Given the description of an element on the screen output the (x, y) to click on. 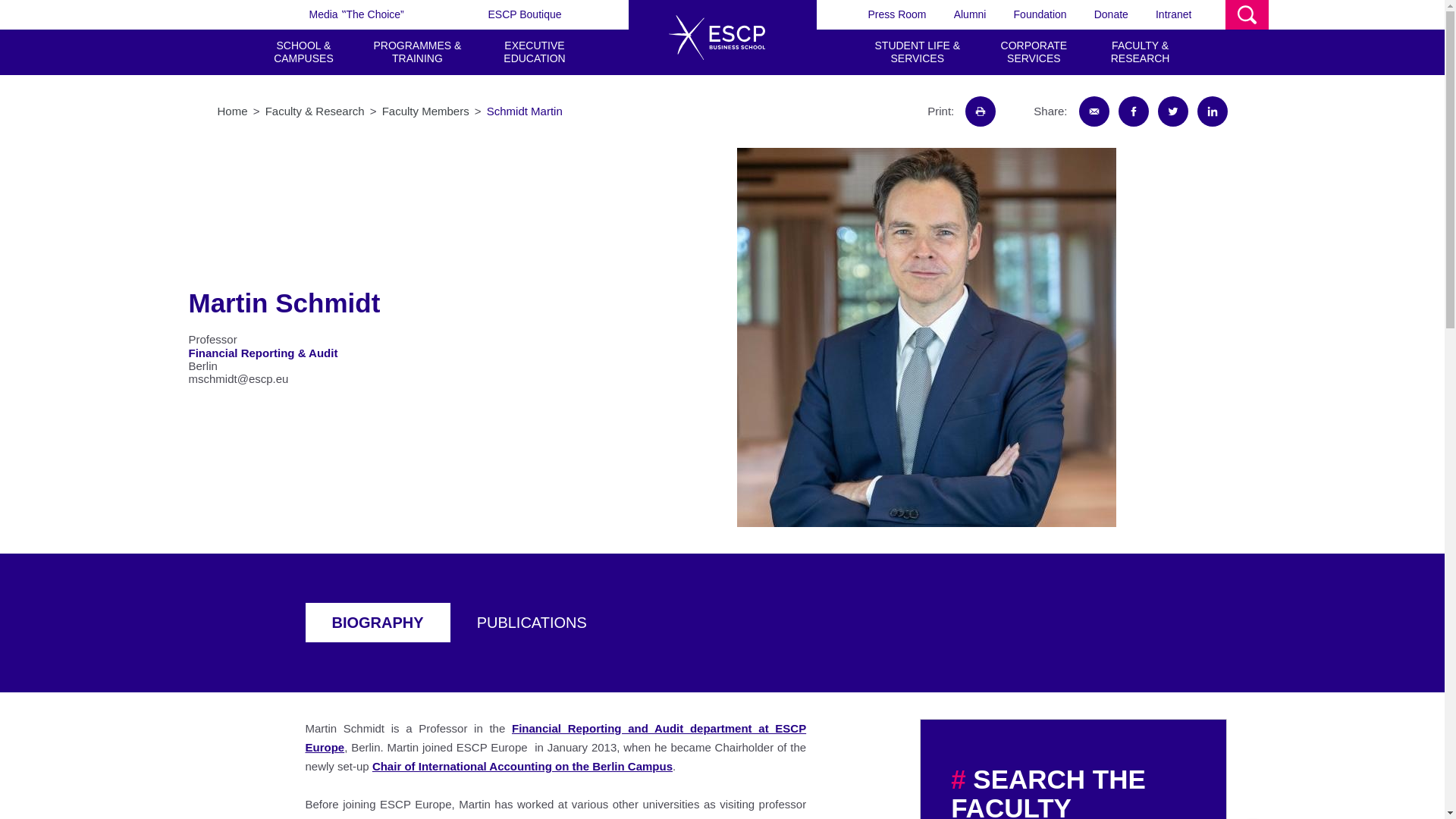
Intranet (1173, 14)
ESCP Boutique (523, 14)
Donate (1111, 14)
Press Room (896, 14)
Alumni (970, 14)
Foundation (1040, 14)
